Given the description of an element on the screen output the (x, y) to click on. 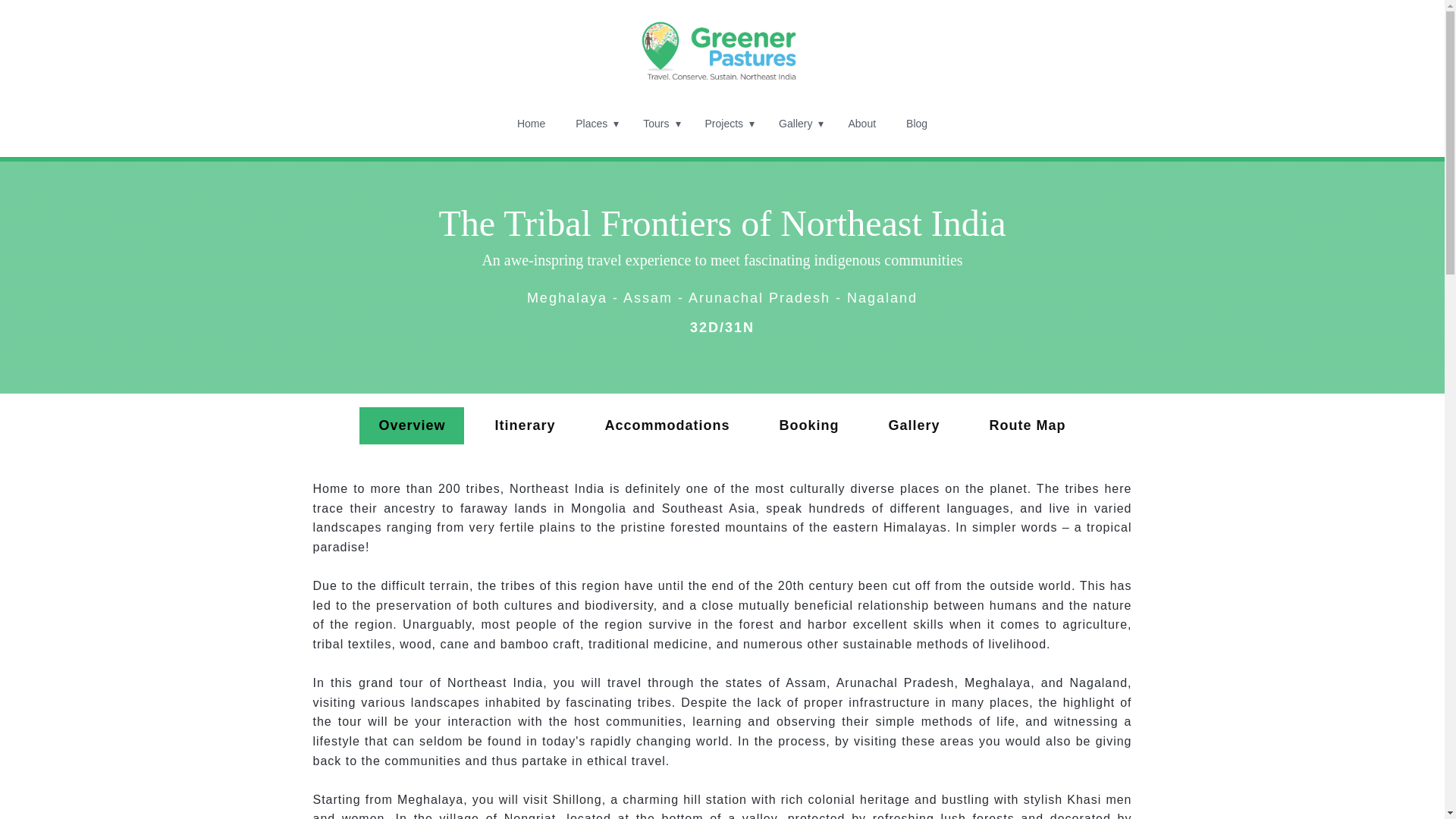
Tours (657, 123)
Home (722, 47)
Projects (727, 123)
Home (531, 123)
Gallery (797, 123)
Places (593, 123)
